Given the description of an element on the screen output the (x, y) to click on. 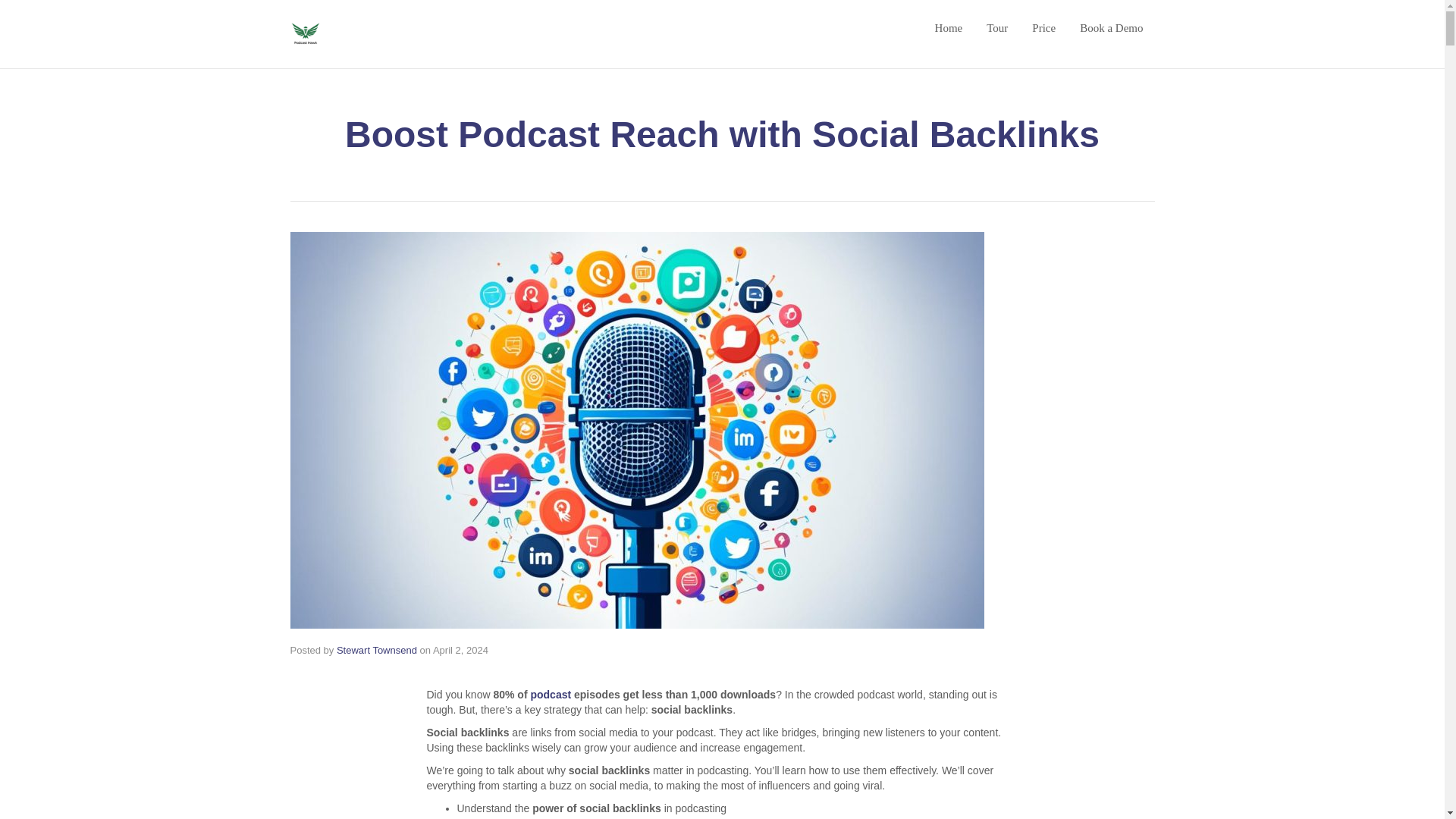
Stewart Townsend (376, 650)
Book a Demo (1111, 27)
podcast (549, 694)
Posts by Stewart Townsend (376, 650)
